Given the description of an element on the screen output the (x, y) to click on. 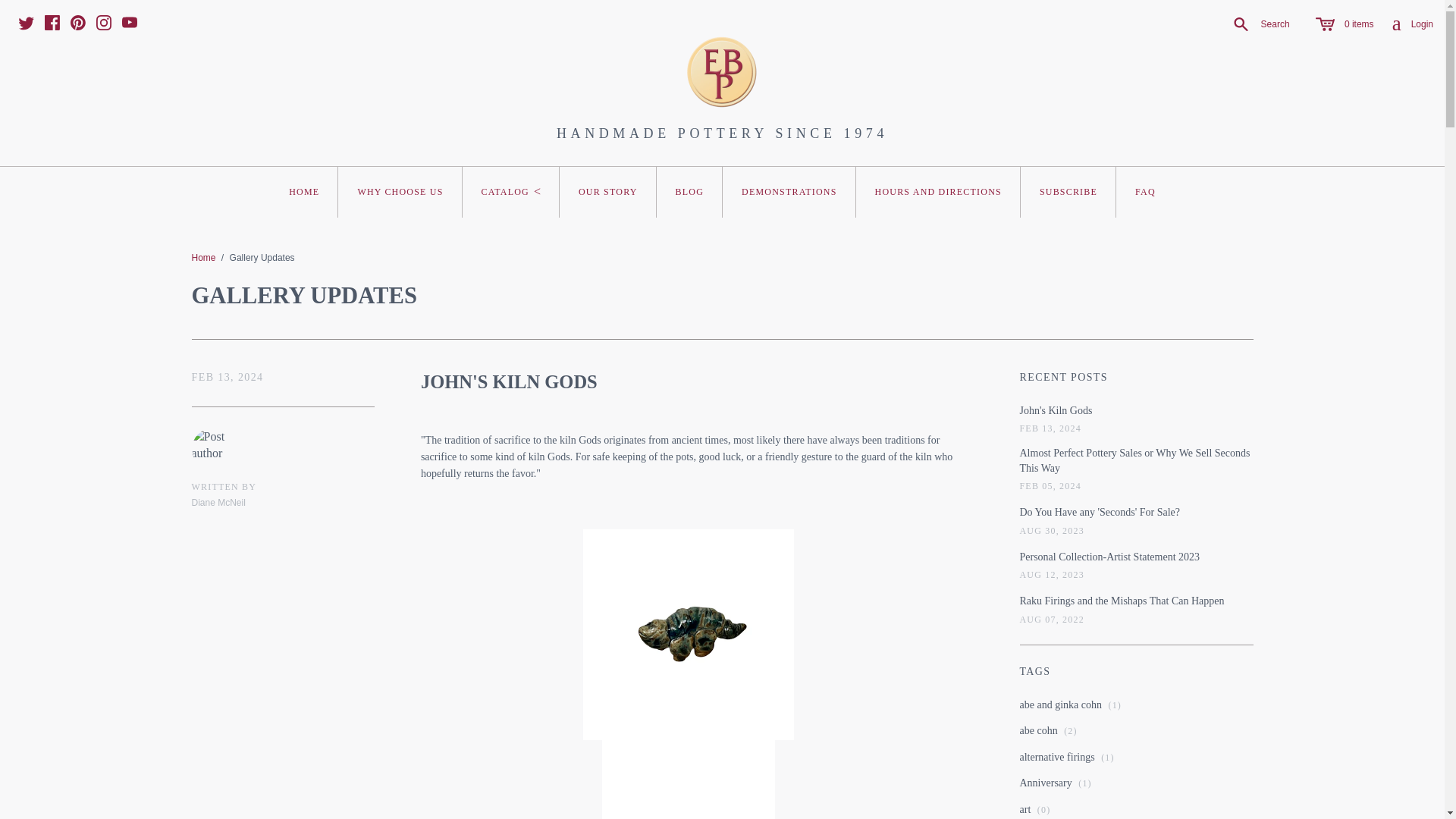
HOME (303, 192)
OUR STORY (607, 192)
Search (1256, 24)
BLOG (689, 192)
WHY CHOOSE US (399, 192)
HOURS AND DIRECTIONS (938, 192)
SUBSCRIBE (1068, 192)
DEMONSTRATIONS (1411, 24)
FAQ (789, 192)
